Given the description of an element on the screen output the (x, y) to click on. 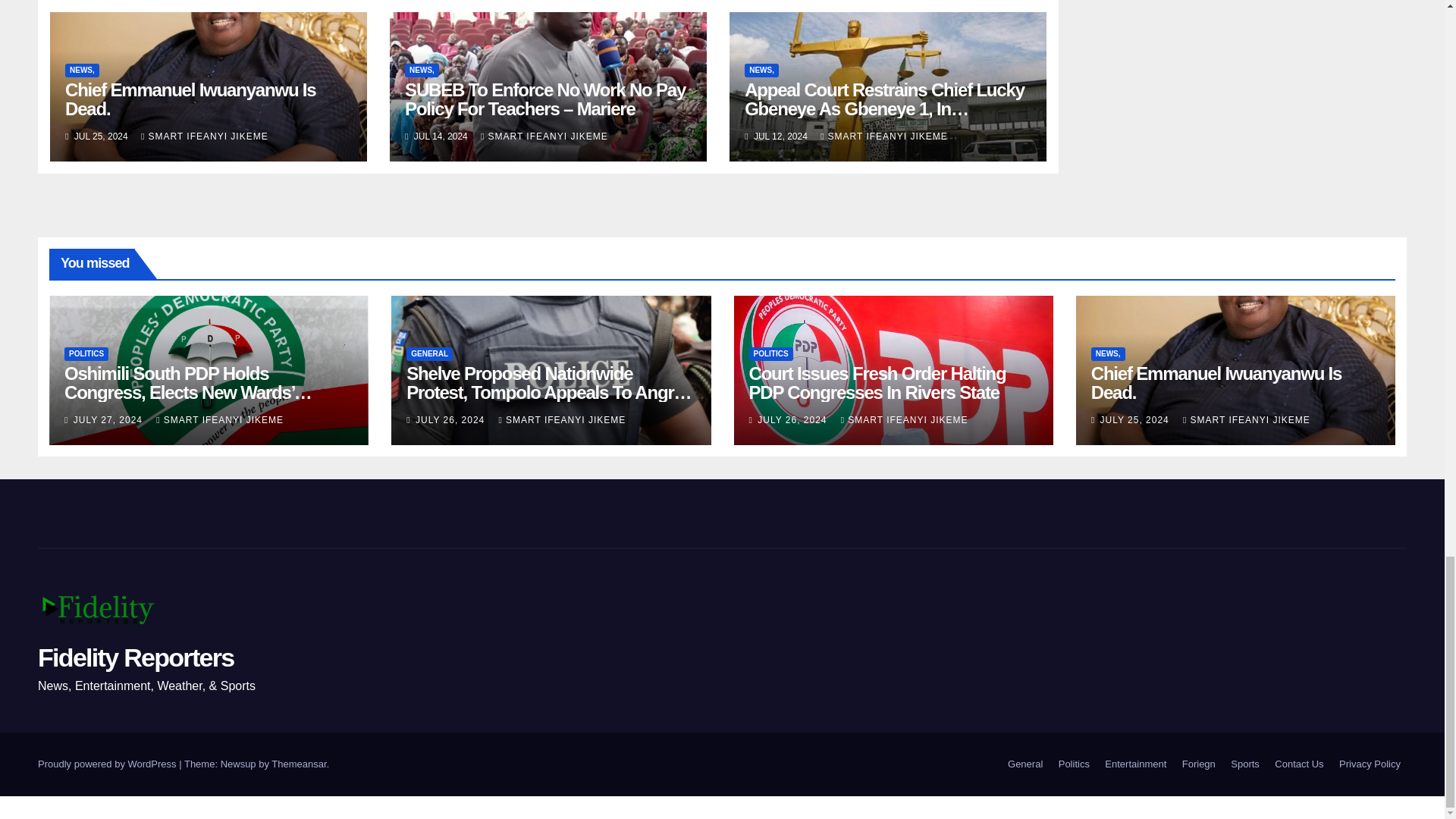
NEWS, (761, 69)
SMART IFEANYI JIKEME (204, 136)
SMART IFEANYI JIKEME (544, 136)
SMART IFEANYI JIKEME (884, 136)
Chief Emmanuel Iwuanyanwu Is Dead. (190, 98)
POLITICS (85, 354)
NEWS, (421, 69)
NEWS, (82, 69)
